Given the description of an element on the screen output the (x, y) to click on. 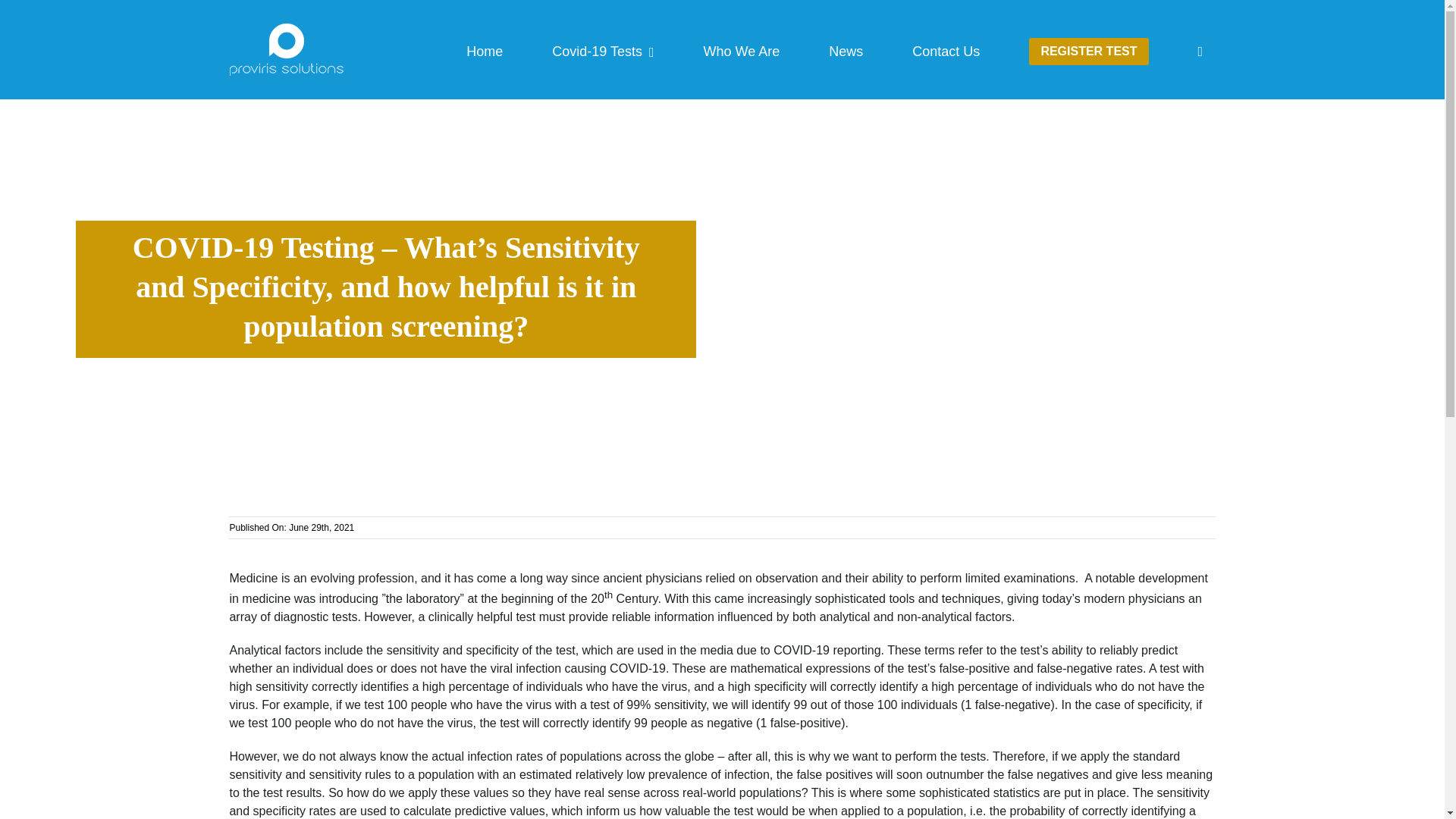
Home (483, 49)
Contact Us (945, 49)
News (845, 49)
Covid-19 Tests (602, 49)
Who We Are (741, 49)
REGISTER TEST (1088, 49)
